Given the description of an element on the screen output the (x, y) to click on. 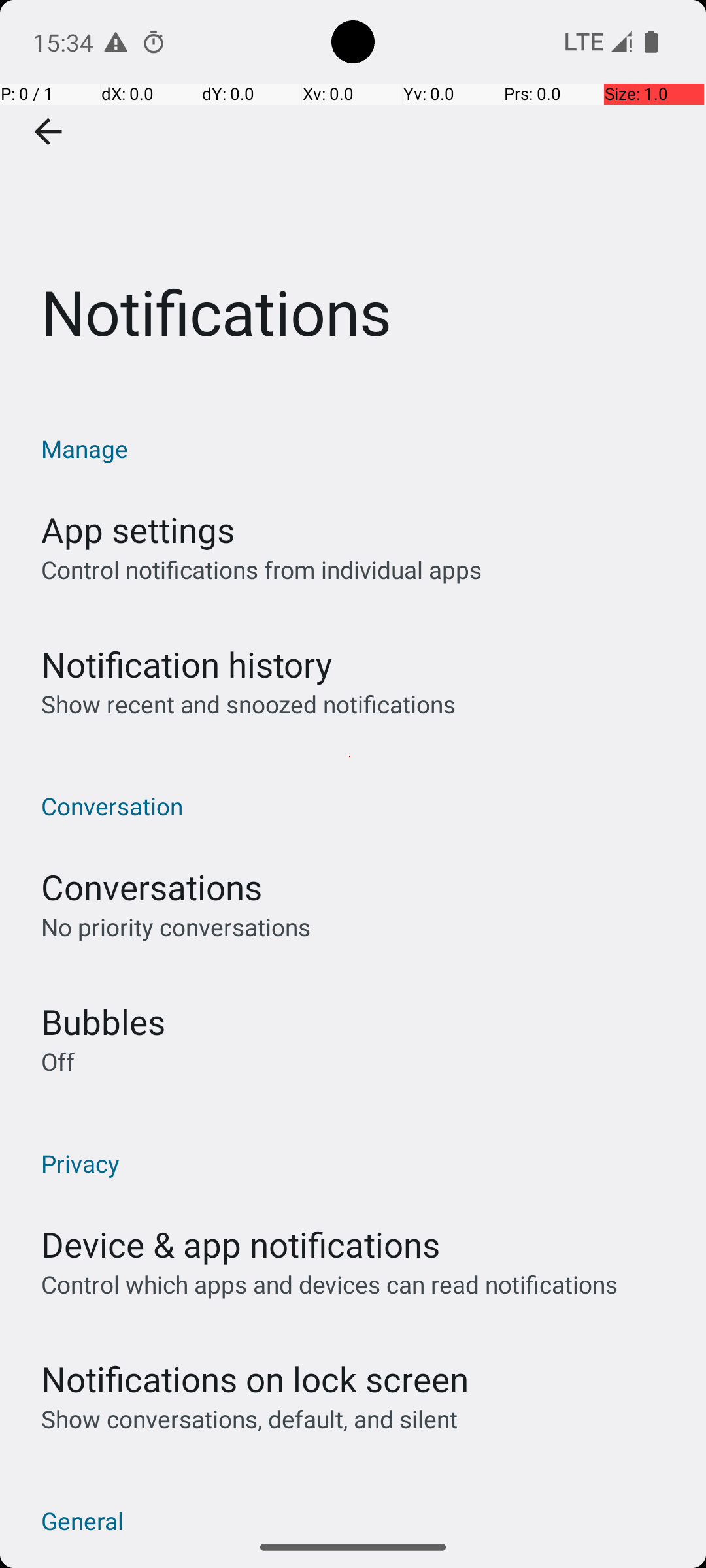
Manage Element type: android.widget.TextView (359, 448)
App settings Element type: android.widget.TextView (137, 529)
Control notifications from individual apps Element type: android.widget.TextView (261, 569)
Notification history Element type: android.widget.TextView (186, 663)
Show recent and snoozed notifications Element type: android.widget.TextView (248, 703)
Conversation Element type: android.widget.TextView (359, 805)
Conversations Element type: android.widget.TextView (151, 886)
No priority conversations Element type: android.widget.TextView (175, 926)
Bubbles Element type: android.widget.TextView (103, 1021)
Privacy Element type: android.widget.TextView (359, 1162)
Device & app notifications Element type: android.widget.TextView (240, 1244)
Control which apps and devices can read notifications Element type: android.widget.TextView (329, 1283)
Notifications on lock screen Element type: android.widget.TextView (254, 1378)
Show conversations, default, and silent Element type: android.widget.TextView (249, 1418)
